Given the description of an element on the screen output the (x, y) to click on. 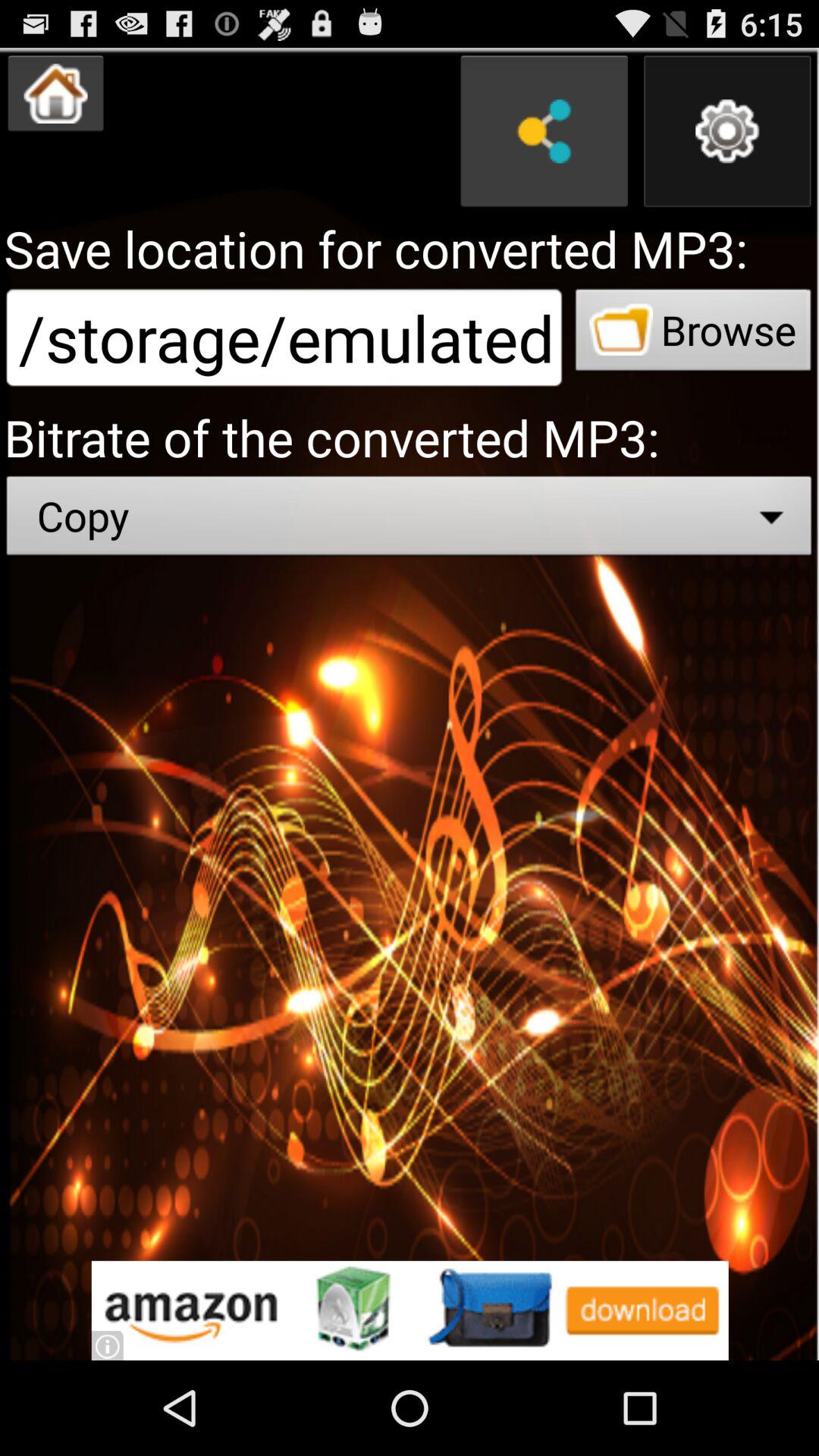
advertising (409, 1310)
